Given the description of an element on the screen output the (x, y) to click on. 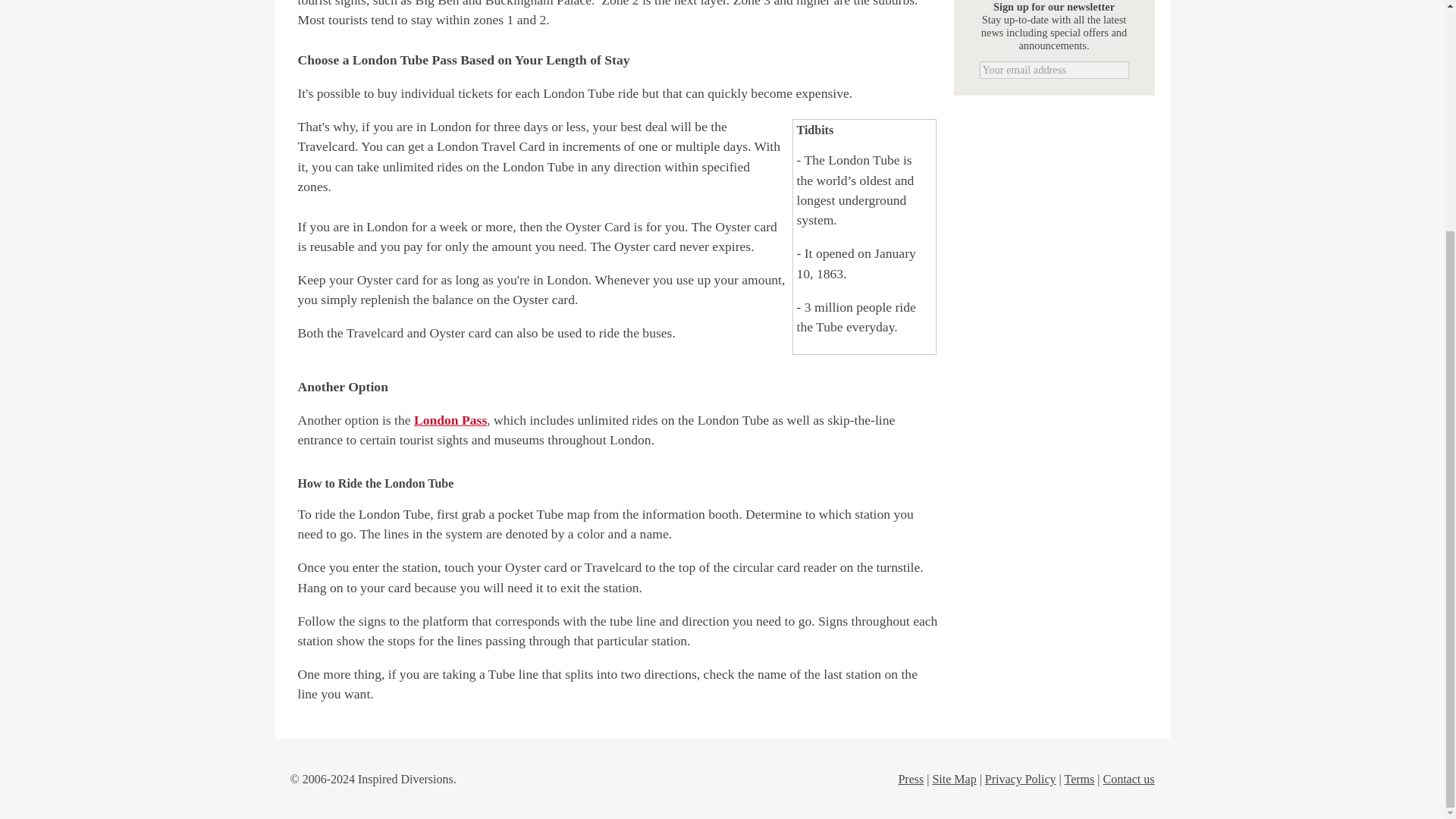
London Pass (449, 420)
Contact us (1128, 779)
Site Map (953, 779)
Press (910, 779)
Privacy Policy (1021, 779)
Terms (1079, 779)
